Given the description of an element on the screen output the (x, y) to click on. 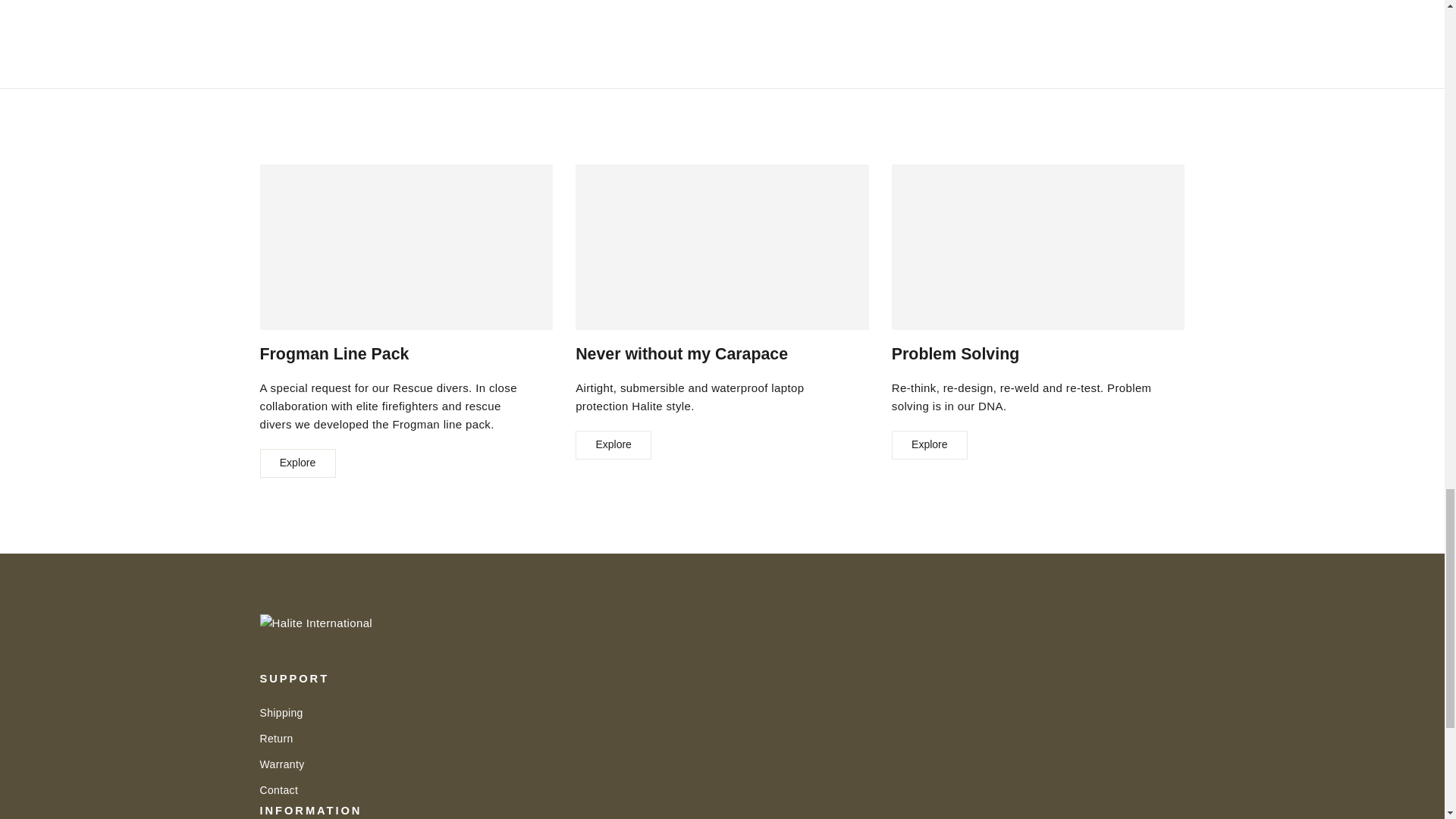
Explore (612, 444)
Return (722, 738)
Explore (929, 444)
Warranty (722, 763)
Contact (722, 789)
Explore (296, 462)
Shipping (722, 712)
